Given the description of an element on the screen output the (x, y) to click on. 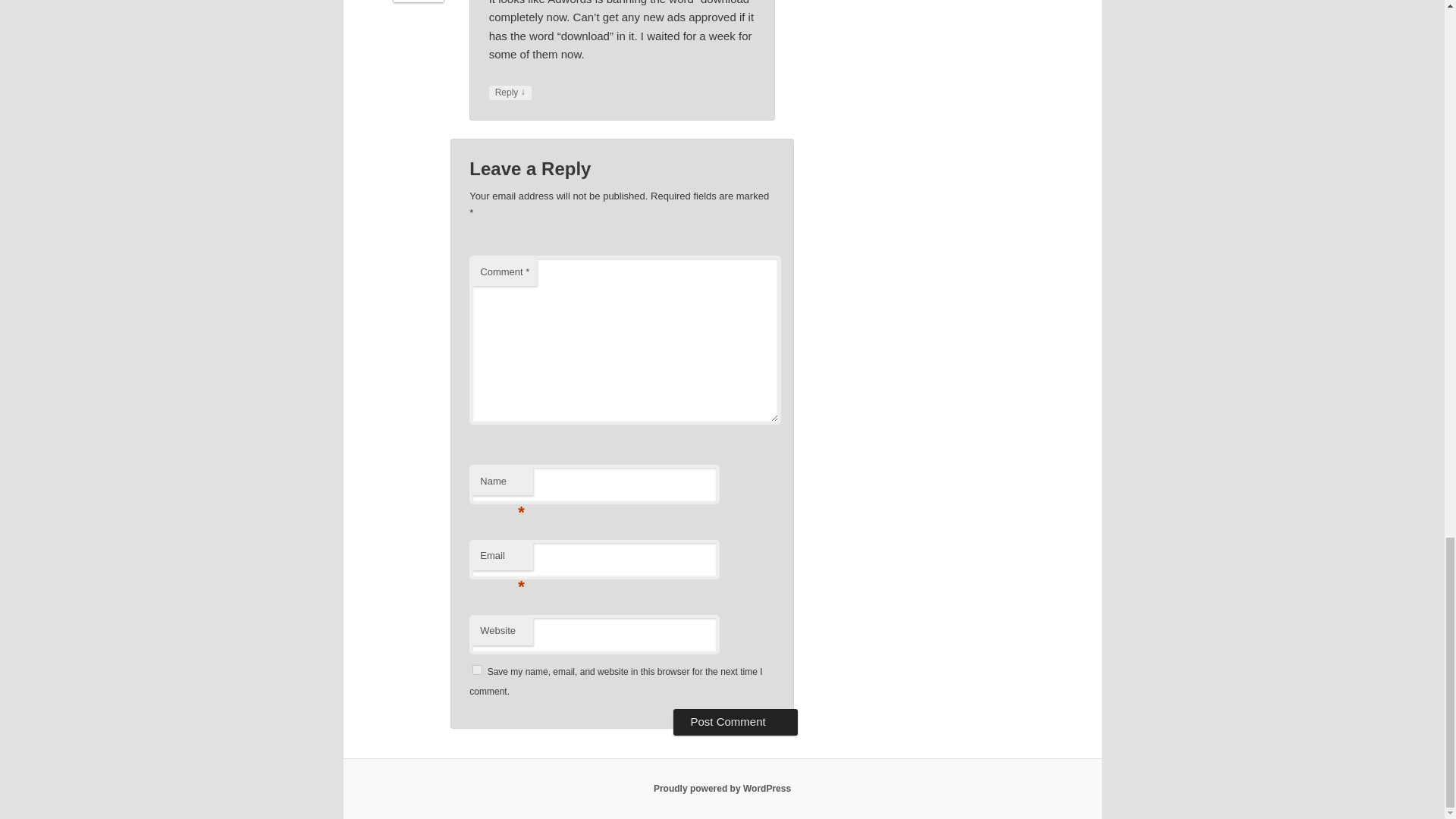
Post Comment (734, 721)
yes (476, 669)
Semantic Personal Publishing Platform (721, 787)
Post Comment (734, 721)
